Given the description of an element on the screen output the (x, y) to click on. 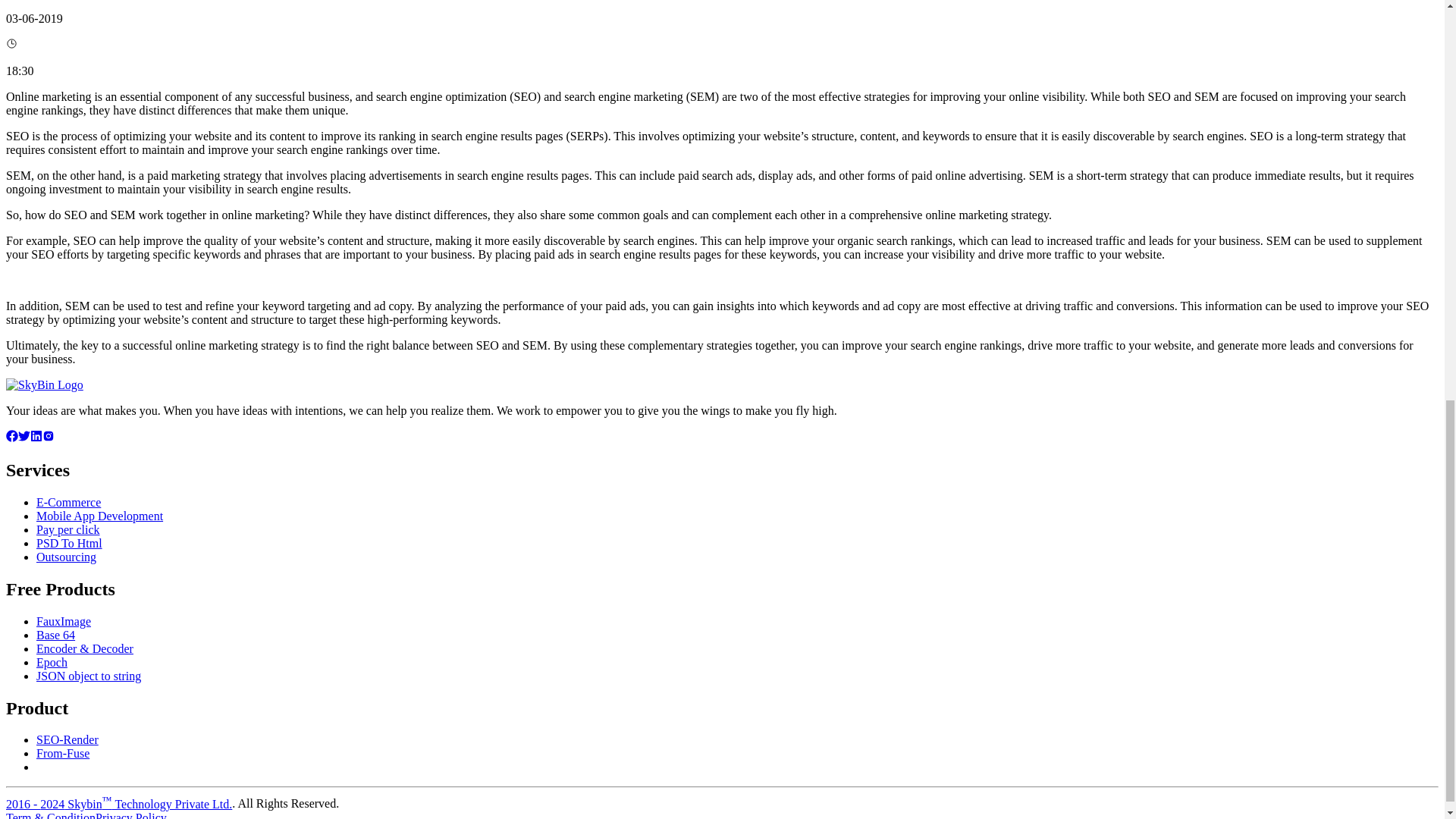
Pay per click (68, 529)
Mobile App Development (99, 515)
Outsourcing (66, 556)
FauxImage (63, 621)
E-Commerce (68, 502)
PSD To Html (68, 543)
